Given the description of an element on the screen output the (x, y) to click on. 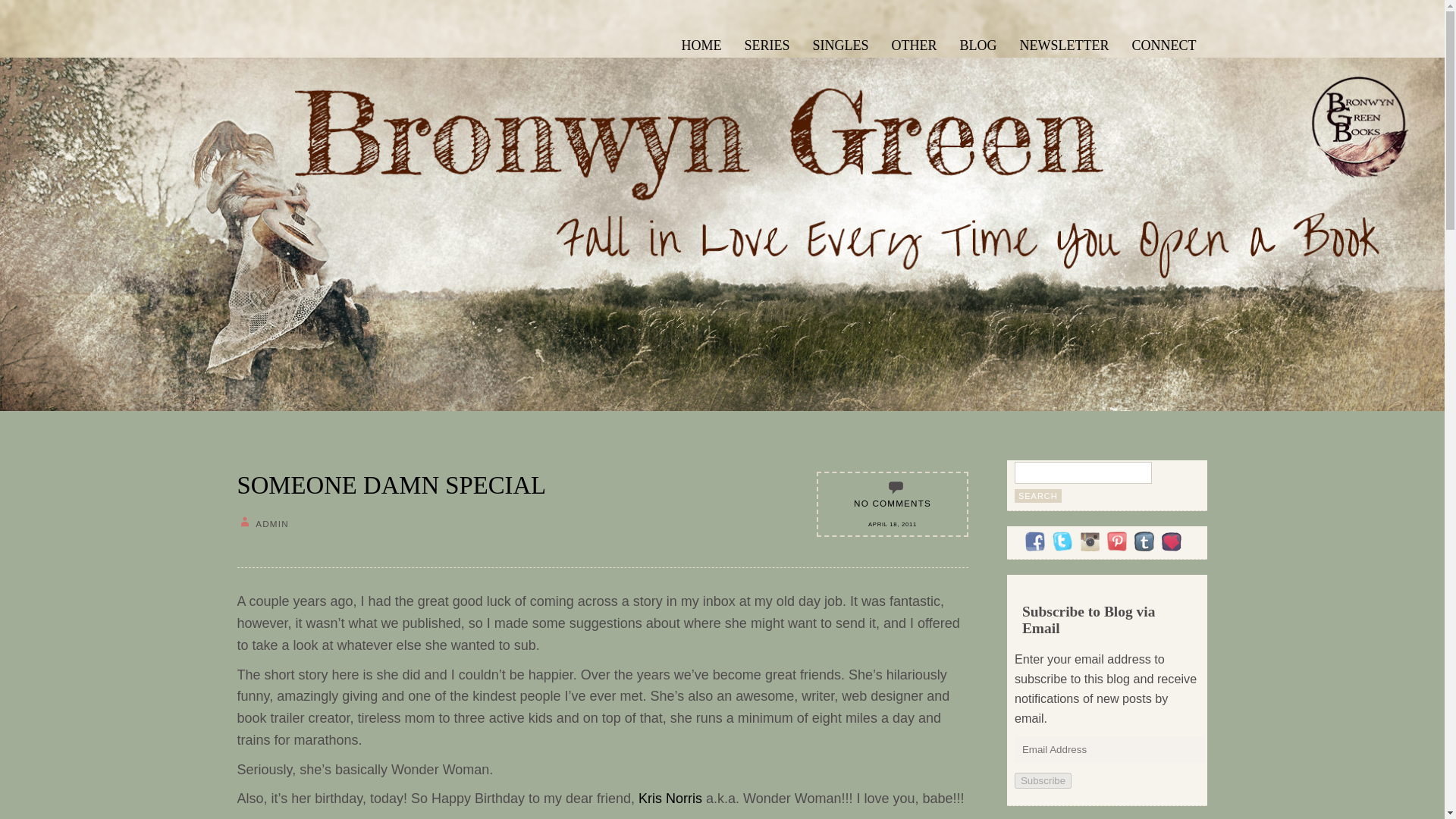
SINGLES (839, 43)
BRONWYN GREEN (313, 58)
Follow Us on Instagram (1089, 541)
Follow Us on Twitter (1061, 541)
CONNECT (1164, 43)
SERIES (766, 43)
Search (1037, 495)
OTHER (914, 43)
Follow Us on Pinterest (1116, 541)
HOME (700, 43)
